Given the description of an element on the screen output the (x, y) to click on. 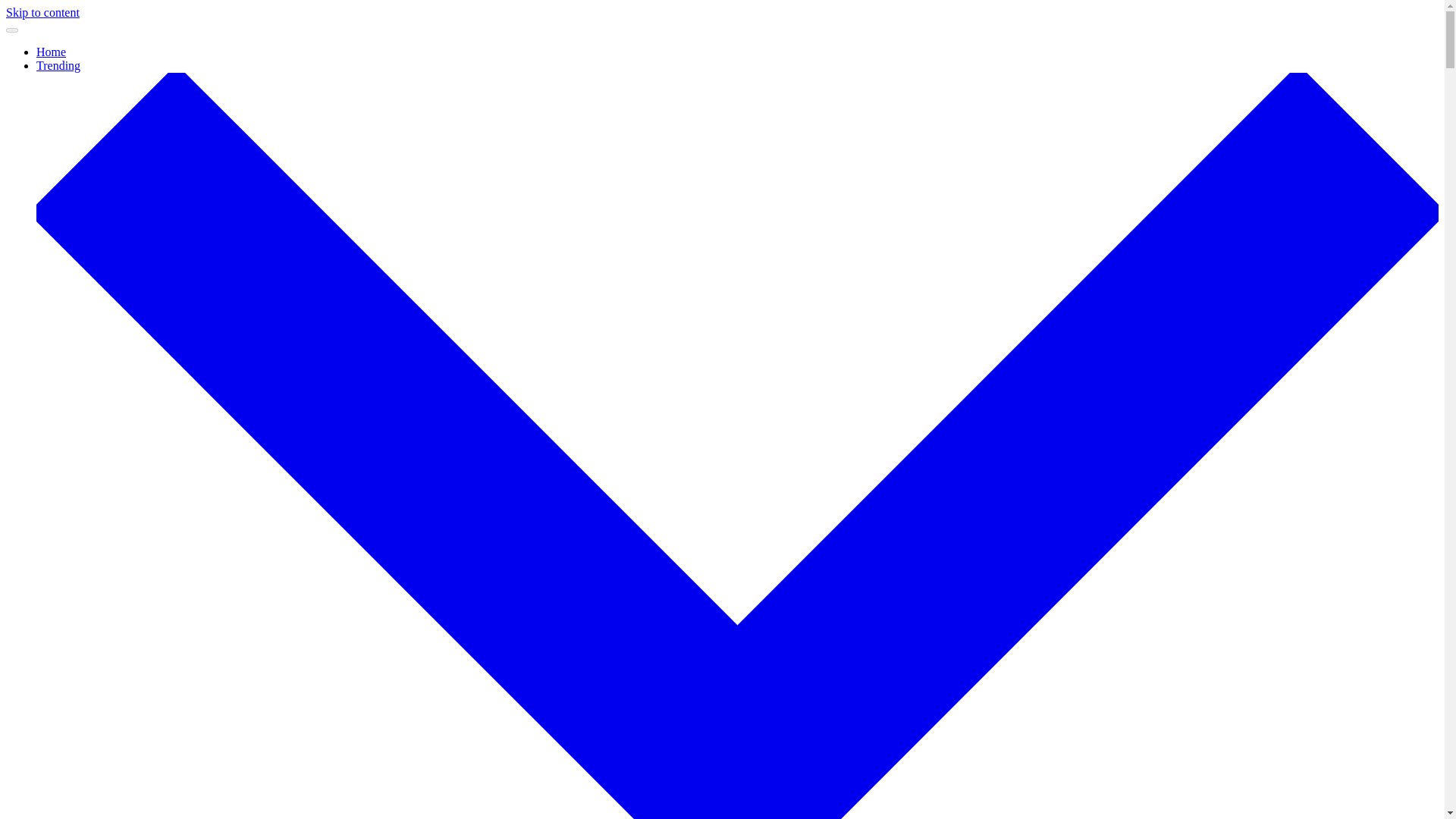
Skip to content (42, 11)
Home (50, 51)
